Given the description of an element on the screen output the (x, y) to click on. 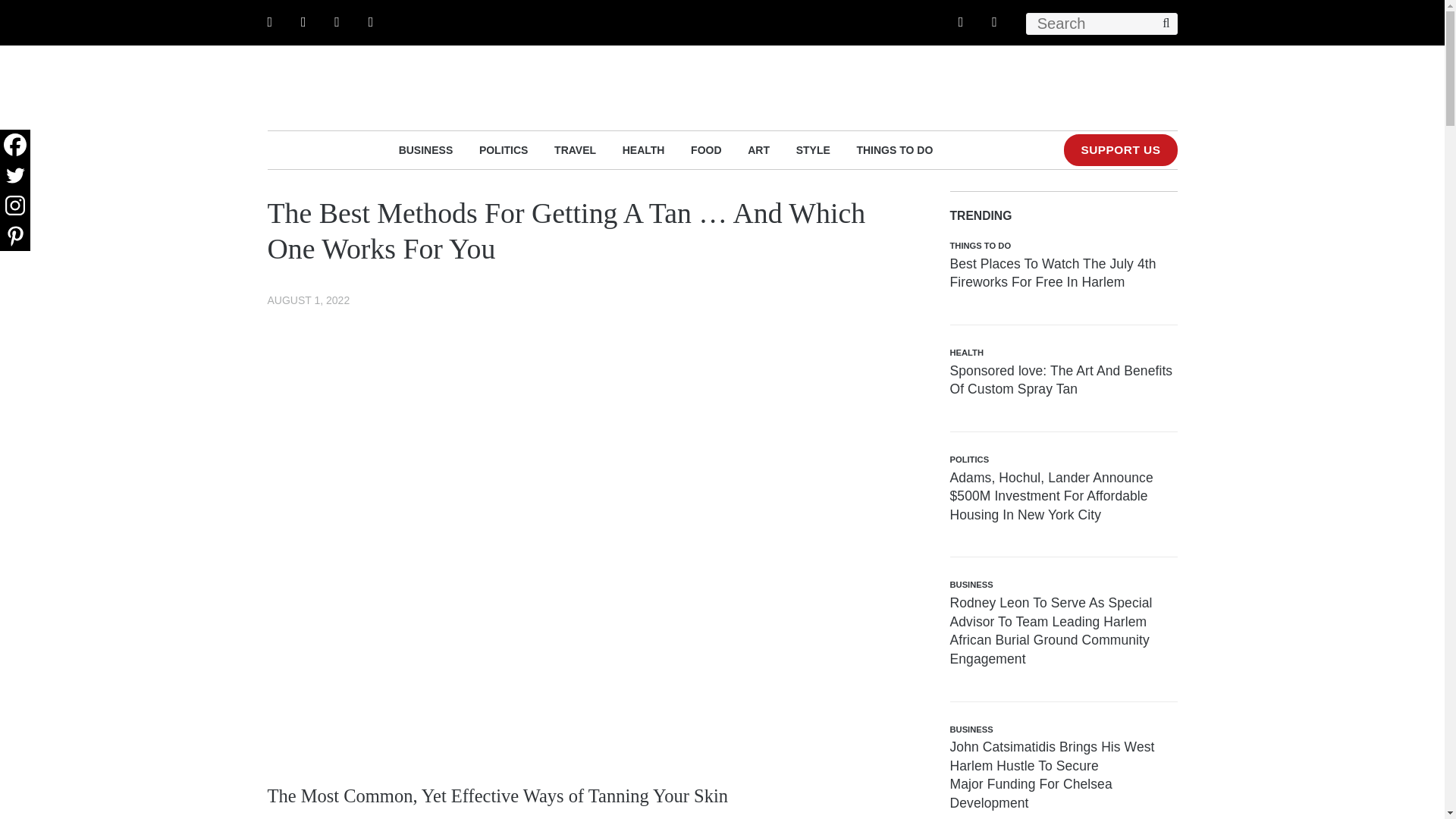
SUPPORT US (1120, 150)
HEALTH (644, 149)
Instagram (15, 205)
Twitter (15, 174)
Facebook (15, 144)
THINGS TO DO (894, 149)
BUSINESS (425, 149)
Pinterest (15, 235)
TRAVEL (574, 149)
STYLE (812, 149)
